Given the description of an element on the screen output the (x, y) to click on. 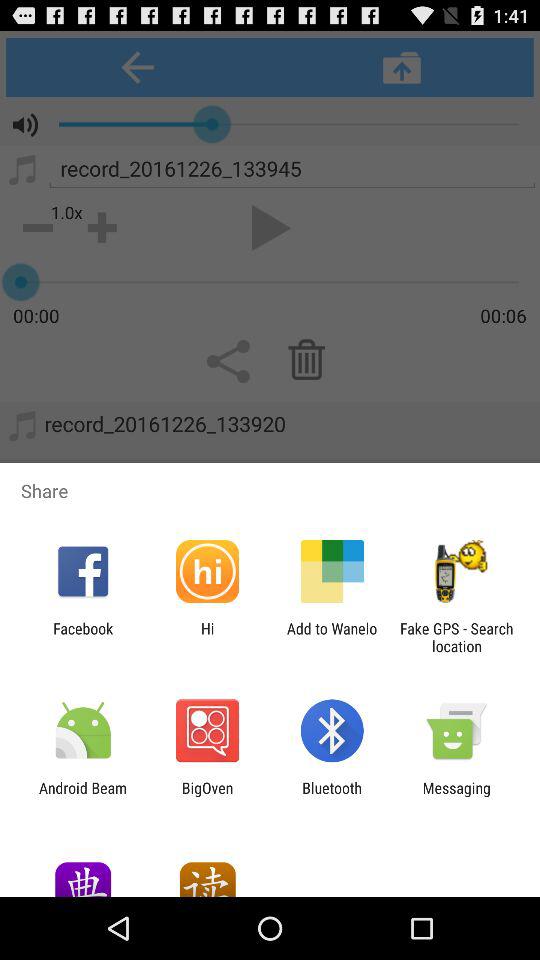
flip until fake gps search item (456, 637)
